Given the description of an element on the screen output the (x, y) to click on. 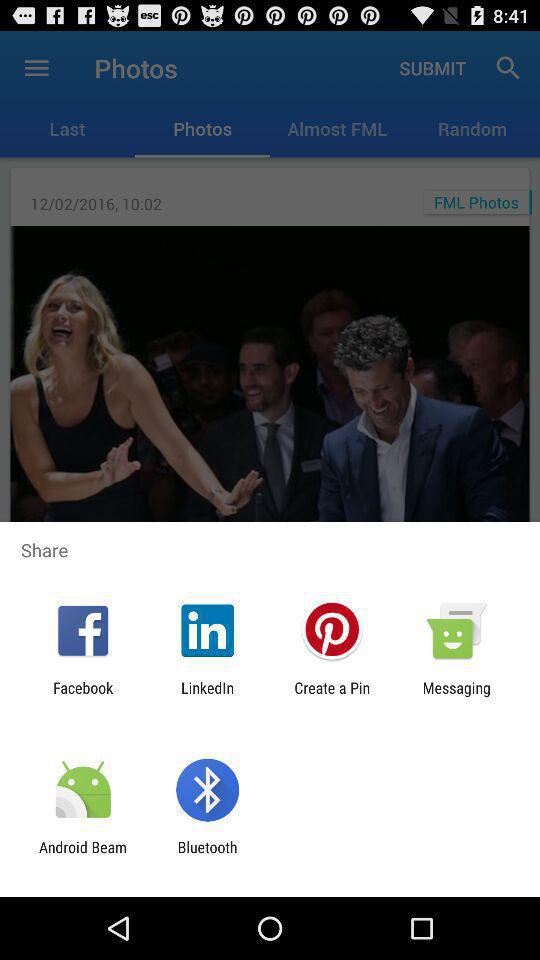
press the app next to the linkedin app (332, 696)
